Given the description of an element on the screen output the (x, y) to click on. 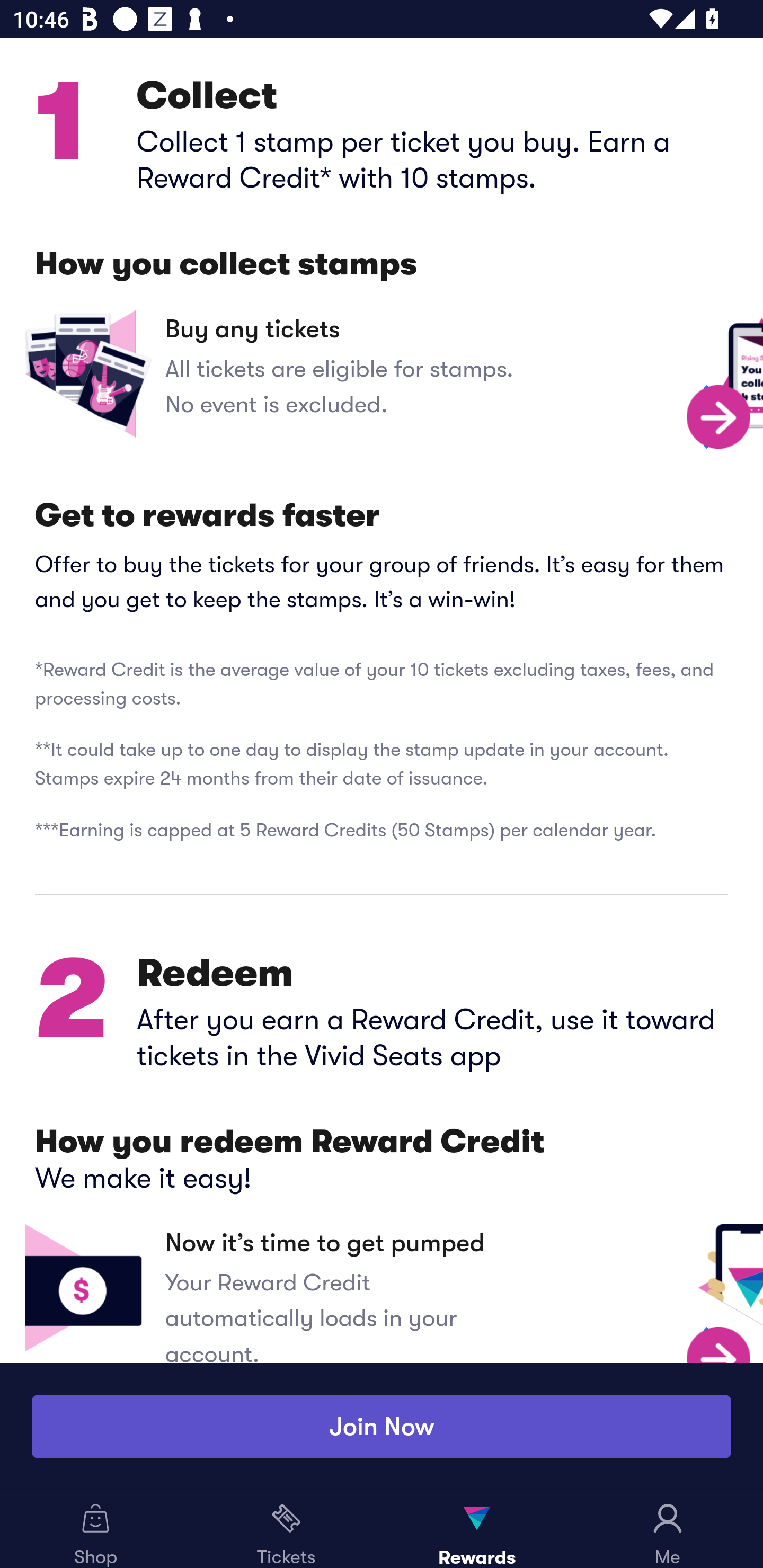
Next slide (718, 417)
Join Now (381, 1426)
Shop (95, 1529)
Tickets (285, 1529)
Rewards (476, 1529)
Me (667, 1529)
